Given the description of an element on the screen output the (x, y) to click on. 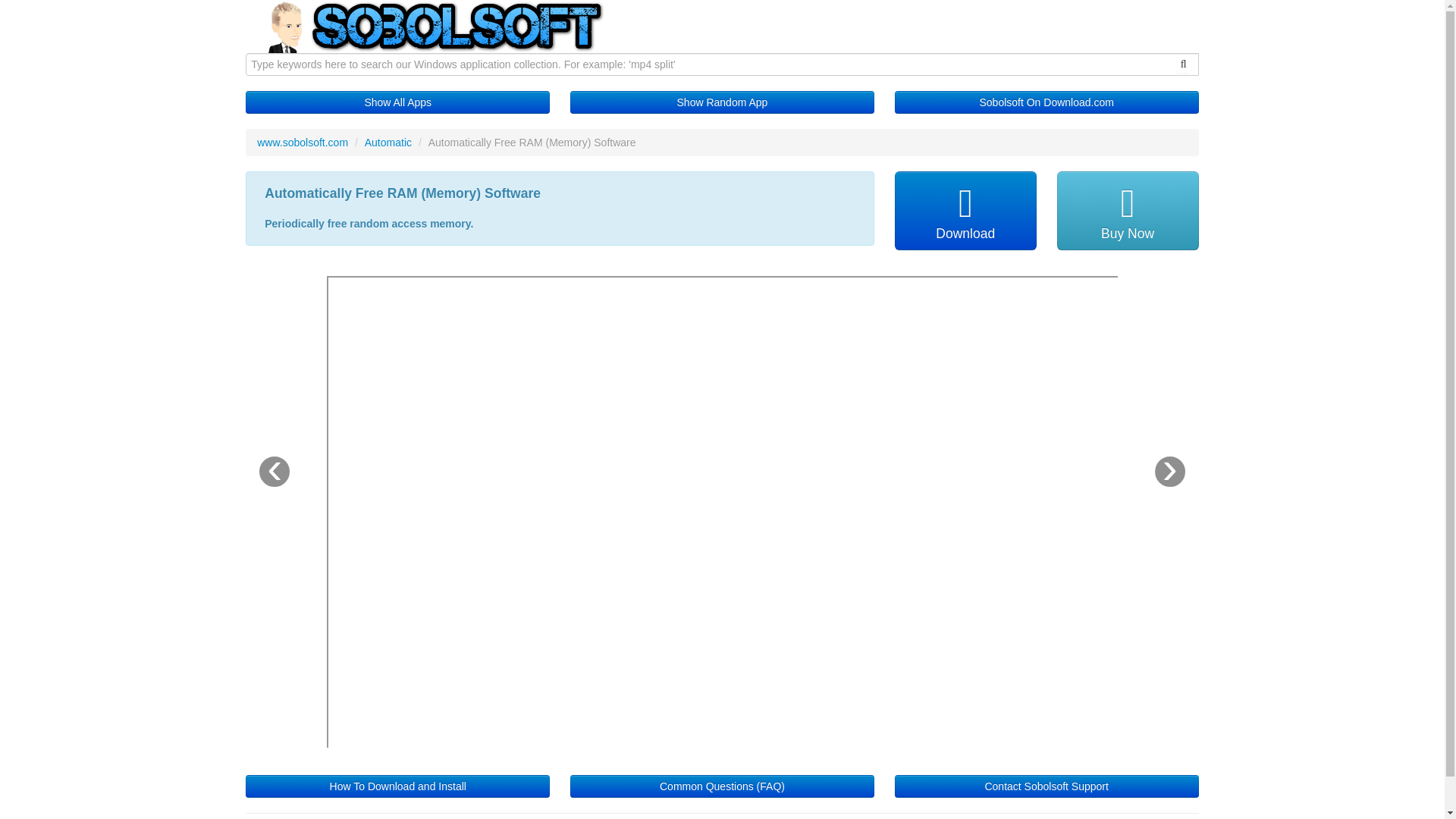
Buy Now (1127, 210)
Contact Sobolsoft Support (1046, 785)
Download (965, 210)
How To Download and Install (398, 785)
Show Random App (722, 101)
www.sobolsoft.com (302, 142)
Show All Apps (398, 101)
Sobolsoft On Download.com (1046, 101)
Automatic (388, 142)
